Given the description of an element on the screen output the (x, y) to click on. 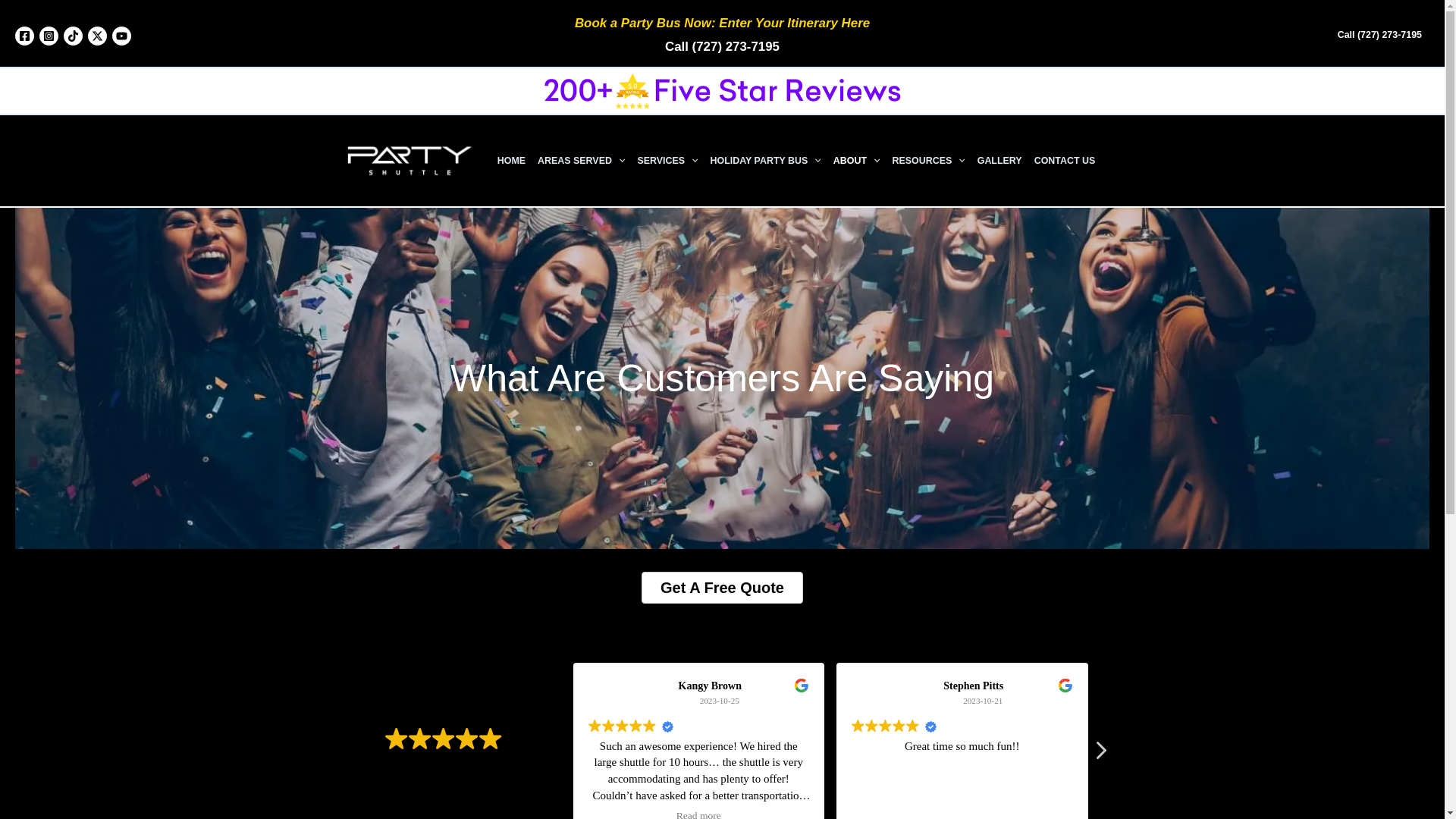
Book a Party Bus Now: Enter Your Itinerary Here (722, 22)
HOLIDAY PARTY BUS (765, 160)
AREAS SERVED (580, 160)
SERVICES (666, 160)
